Given the description of an element on the screen output the (x, y) to click on. 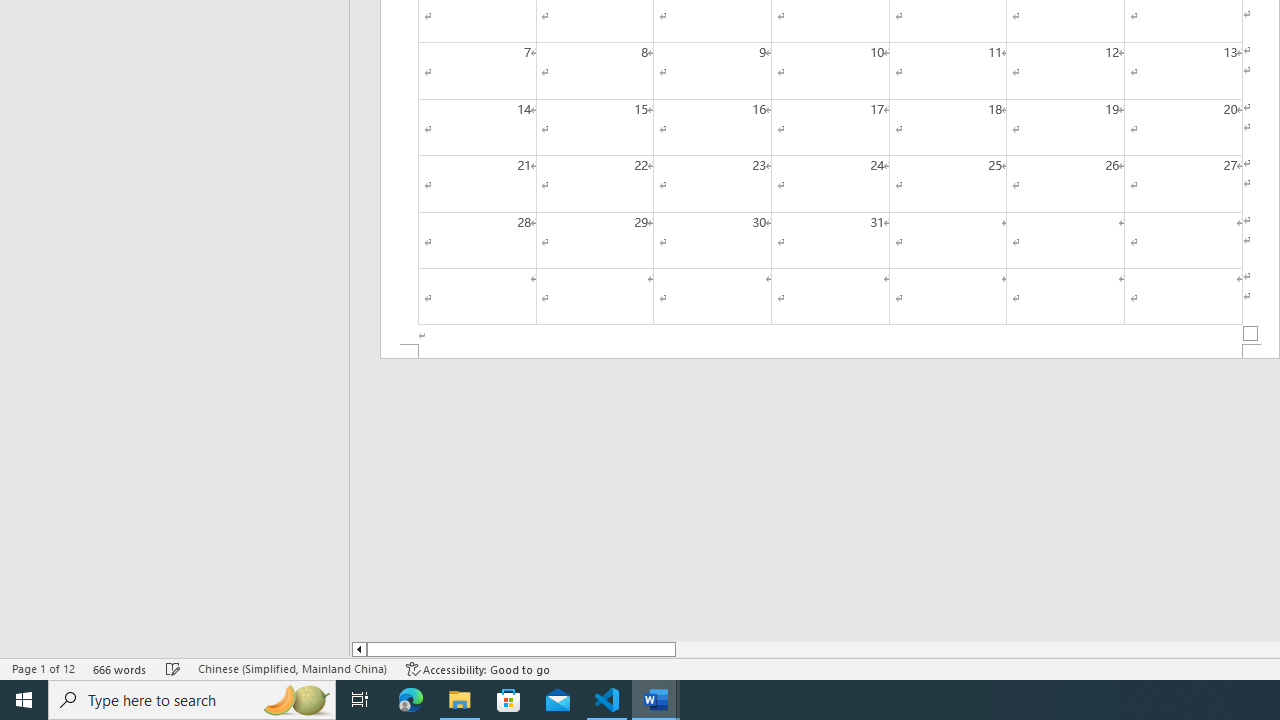
Word Count 666 words (119, 668)
Column left (358, 649)
Page Number Page 1 of 12 (43, 668)
